Given the description of an element on the screen output the (x, y) to click on. 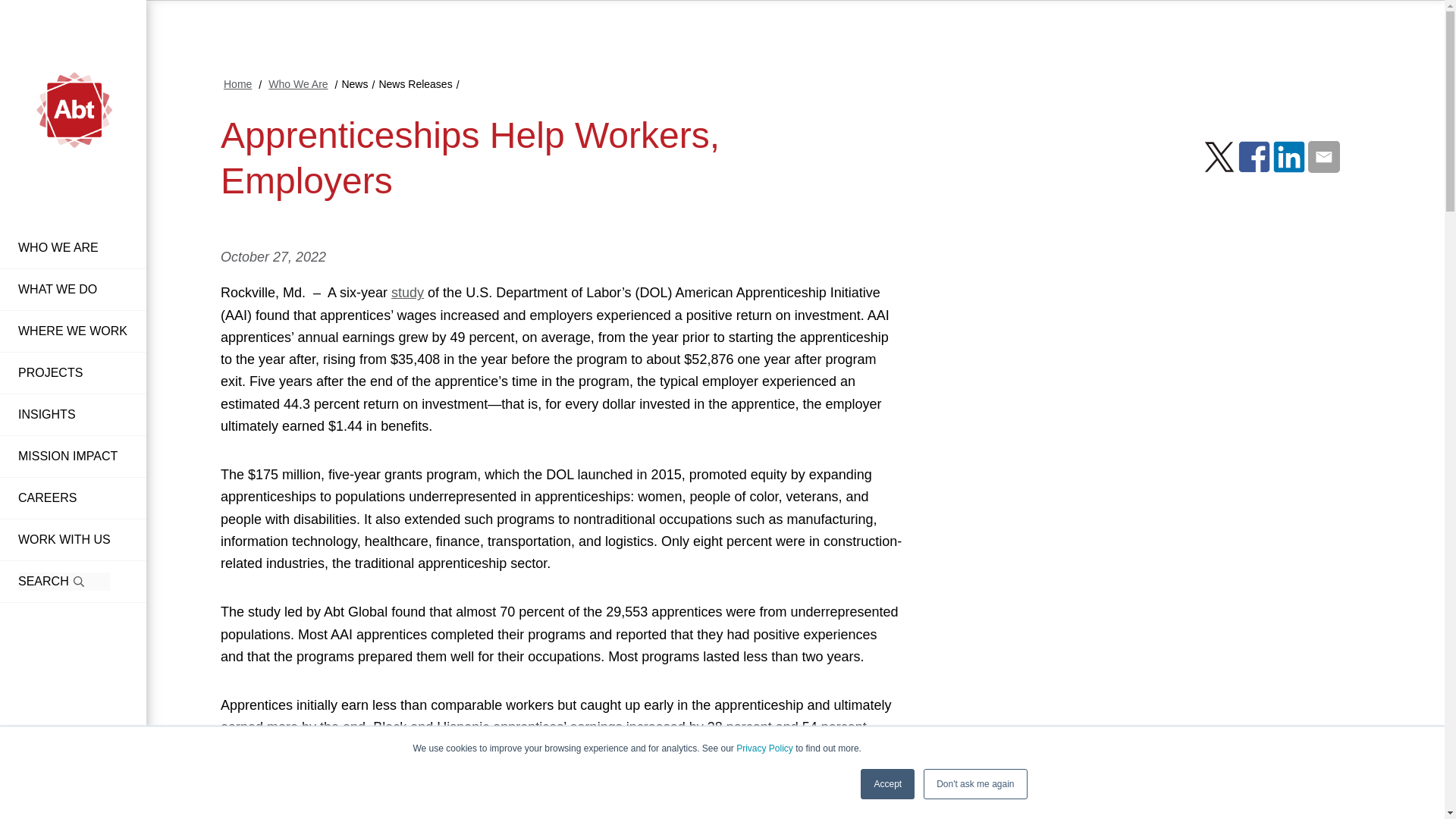
Search (78, 581)
Don't ask me again (974, 784)
Abt Global (73, 123)
WHO WE ARE (73, 248)
Accept (887, 784)
WHAT WE DO (73, 290)
Privacy Policy (764, 747)
